Given the description of an element on the screen output the (x, y) to click on. 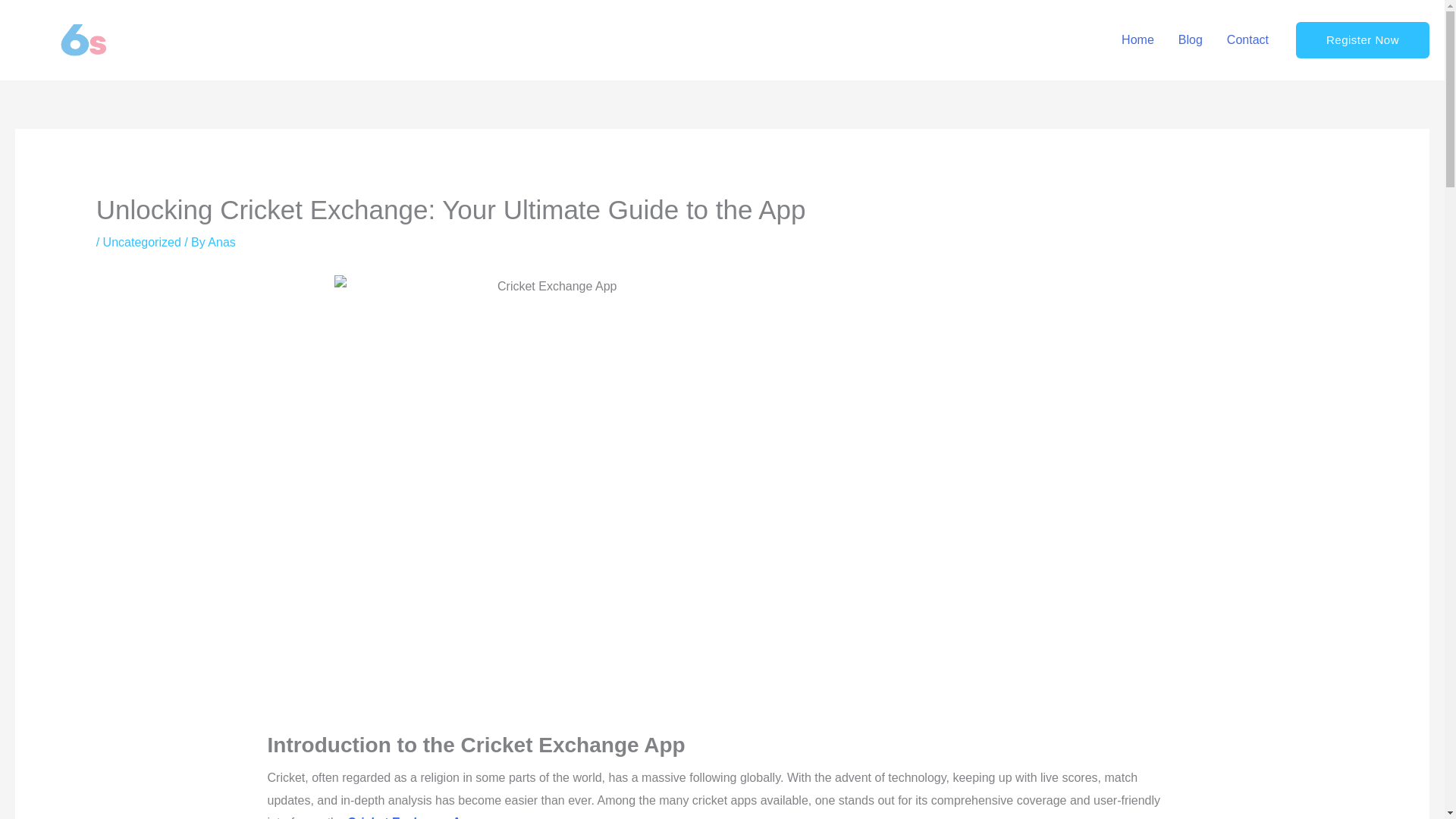
Register Now (1362, 40)
Home (1137, 39)
Contact (1247, 39)
Cricket Exchange App (411, 817)
View all posts by Anas (221, 241)
Blog (1190, 39)
Uncategorized (141, 241)
Anas (221, 241)
